Given the description of an element on the screen output the (x, y) to click on. 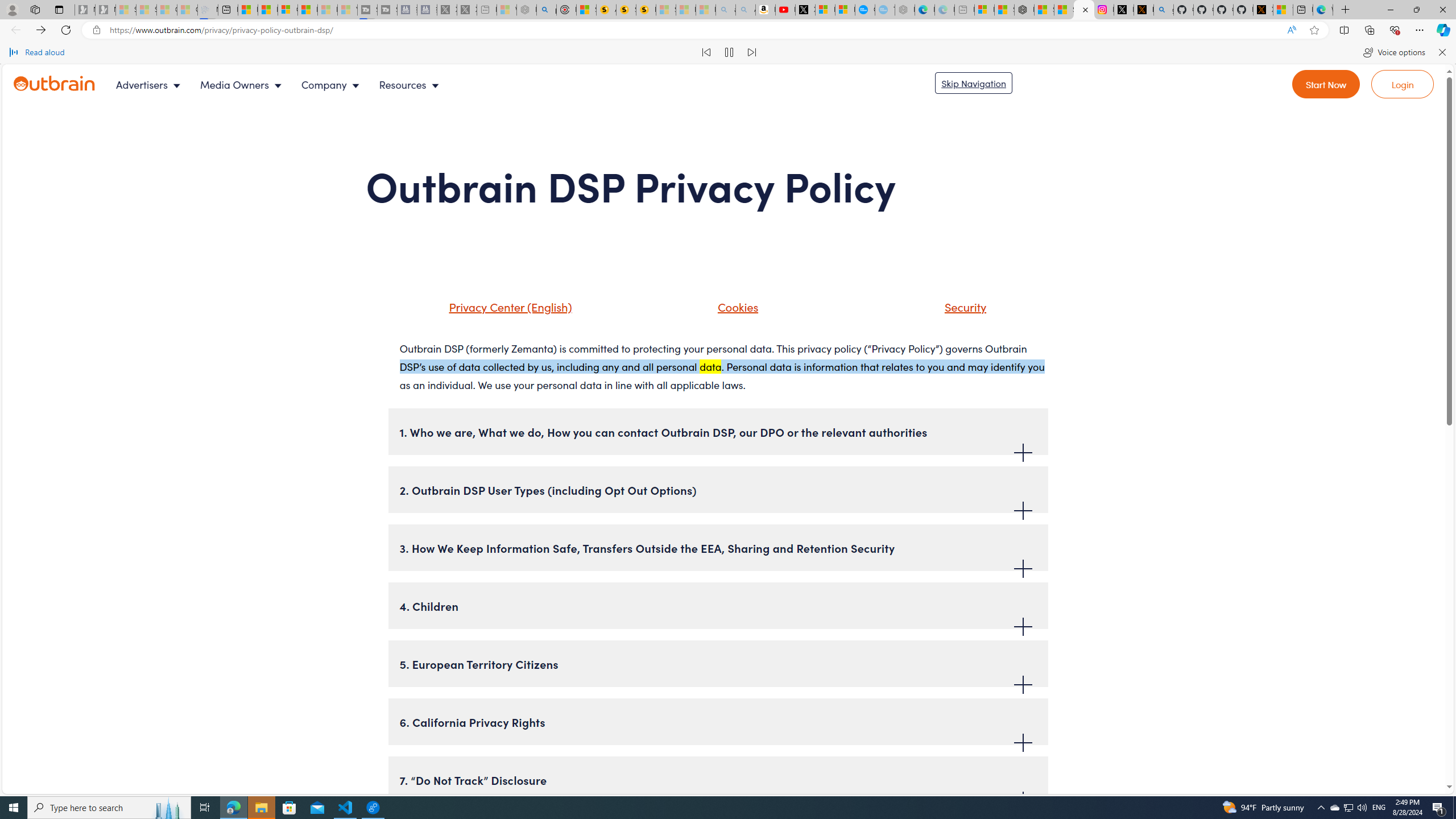
Read previous paragraph (705, 52)
Wildlife - MSN - Sleeping (506, 9)
Media Owners (242, 84)
Cookies (723, 311)
Voice options (1393, 52)
X Privacy Policy (1262, 9)
Welcome to Microsoft Edge (1322, 9)
Advertisers (151, 84)
Pause read aloud (Ctrl+Shift+U) (729, 52)
4. Children (717, 605)
